Given the description of an element on the screen output the (x, y) to click on. 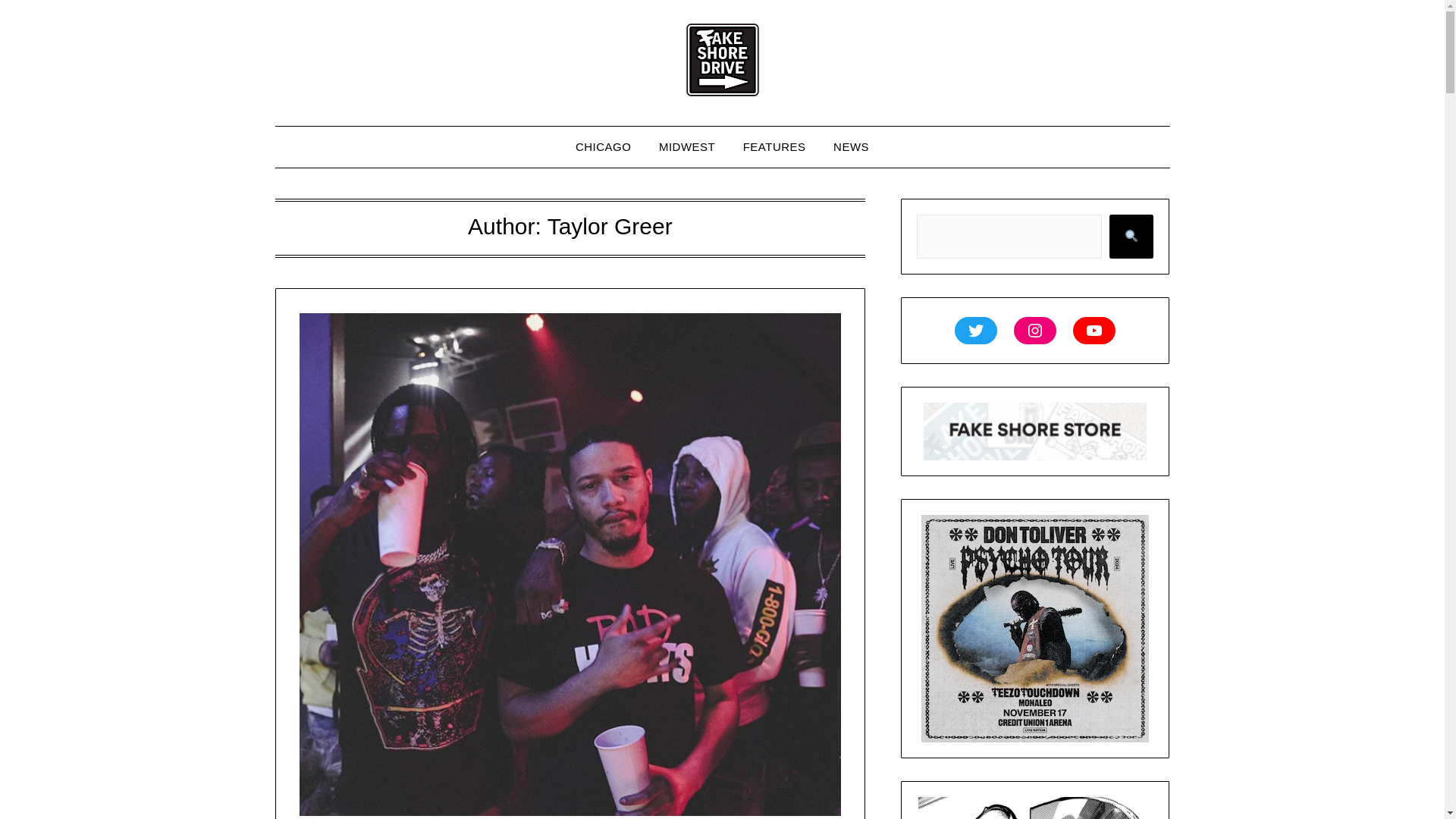
FEATURES (774, 146)
CHICAGO (603, 146)
NEWS (850, 146)
MIDWEST (686, 146)
